Given the description of an element on the screen output the (x, y) to click on. 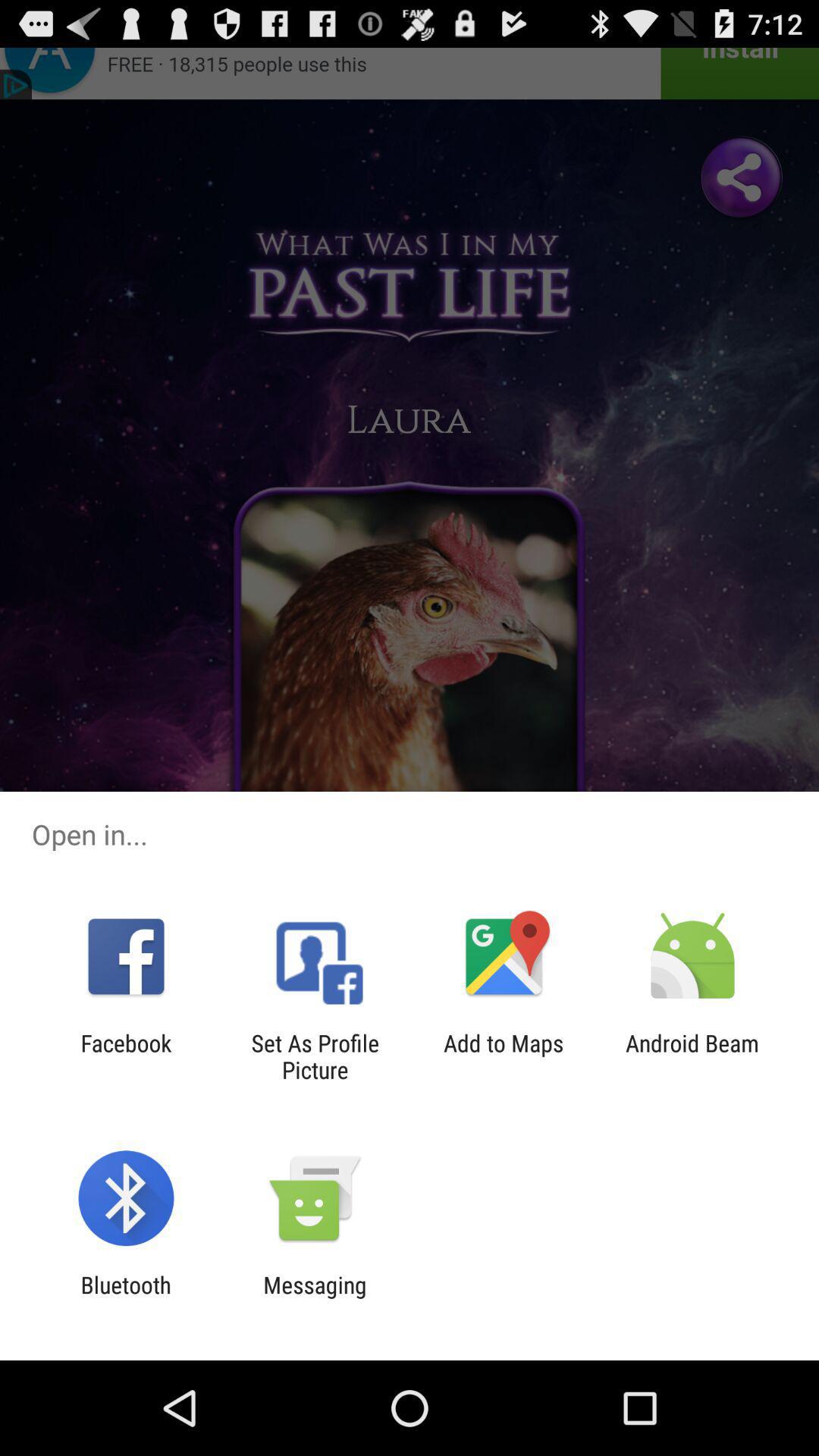
jump to android beam (692, 1056)
